Given the description of an element on the screen output the (x, y) to click on. 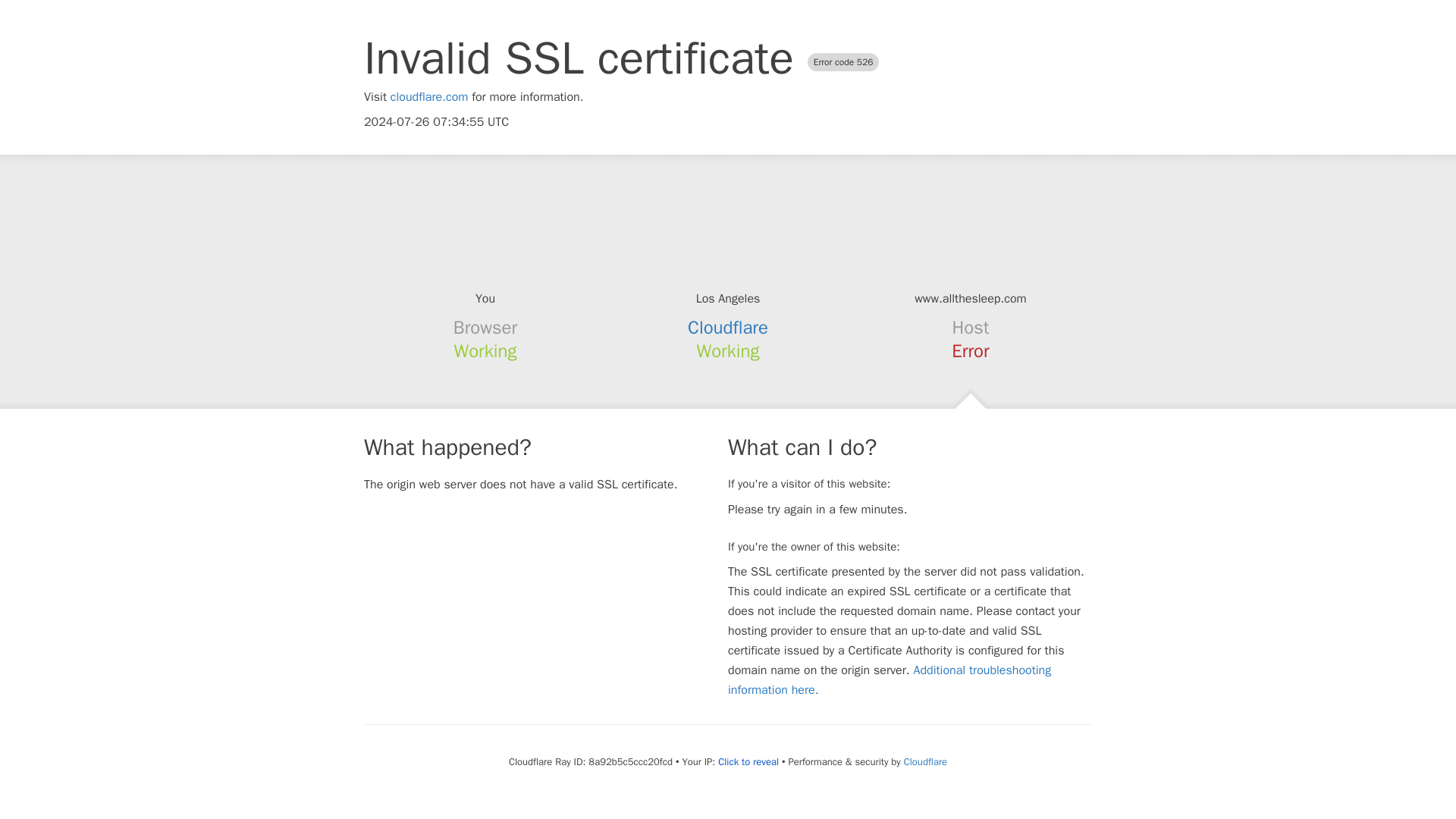
Additional troubleshooting information here. (889, 679)
Cloudflare (727, 327)
Cloudflare (925, 761)
Click to reveal (747, 762)
cloudflare.com (429, 96)
